Given the description of an element on the screen output the (x, y) to click on. 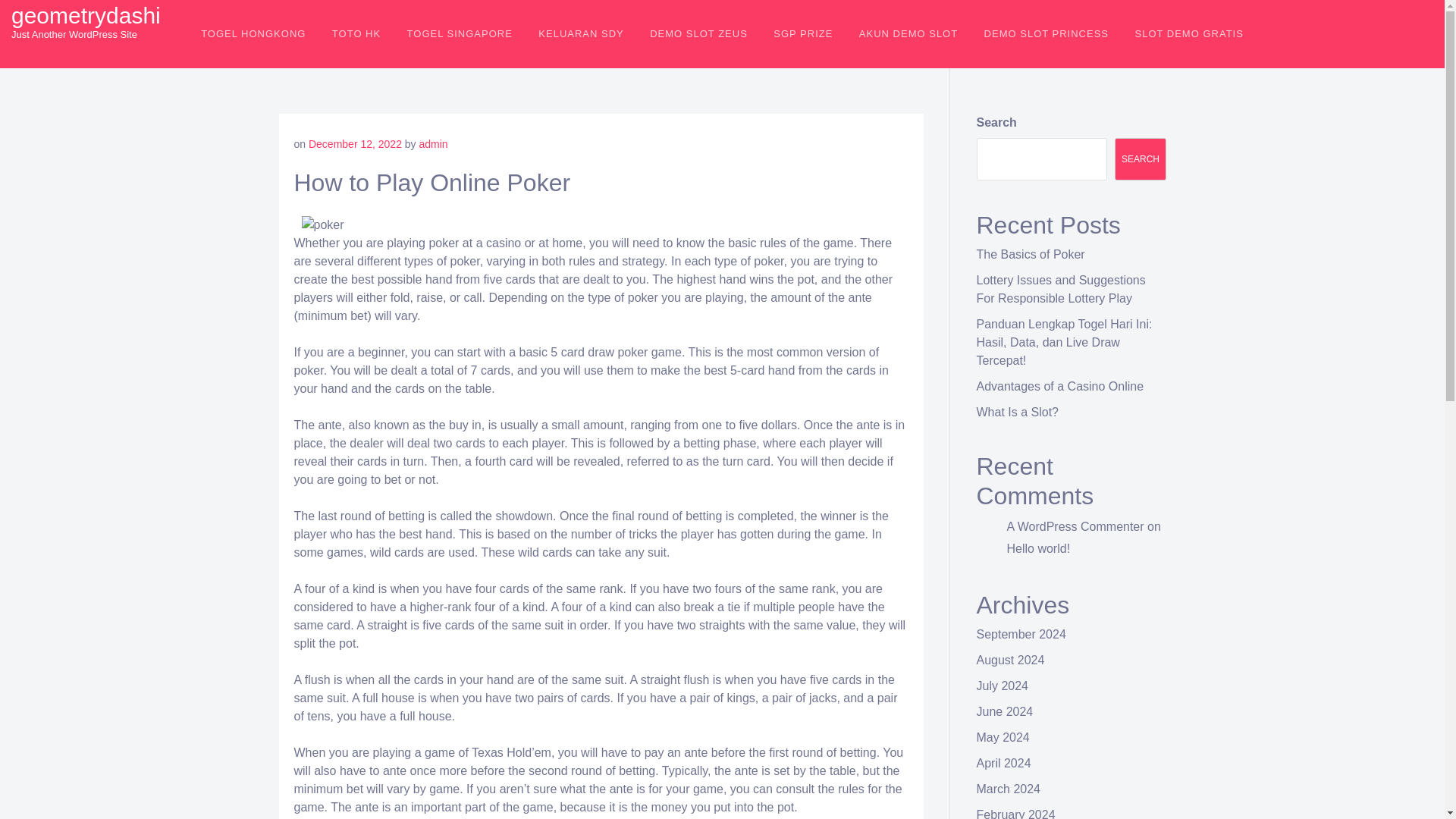
SGP PRIZE (802, 33)
admin (433, 143)
SLOT DEMO GRATIS (1187, 33)
Hello world! (1038, 548)
June 2024 (1004, 711)
September 2024 (1020, 634)
DEMO SLOT ZEUS (698, 33)
SEARCH (1140, 159)
What Is a Slot? (1017, 411)
Lottery Issues and Suggestions For Responsible Lottery Play (1060, 288)
